Given the description of an element on the screen output the (x, y) to click on. 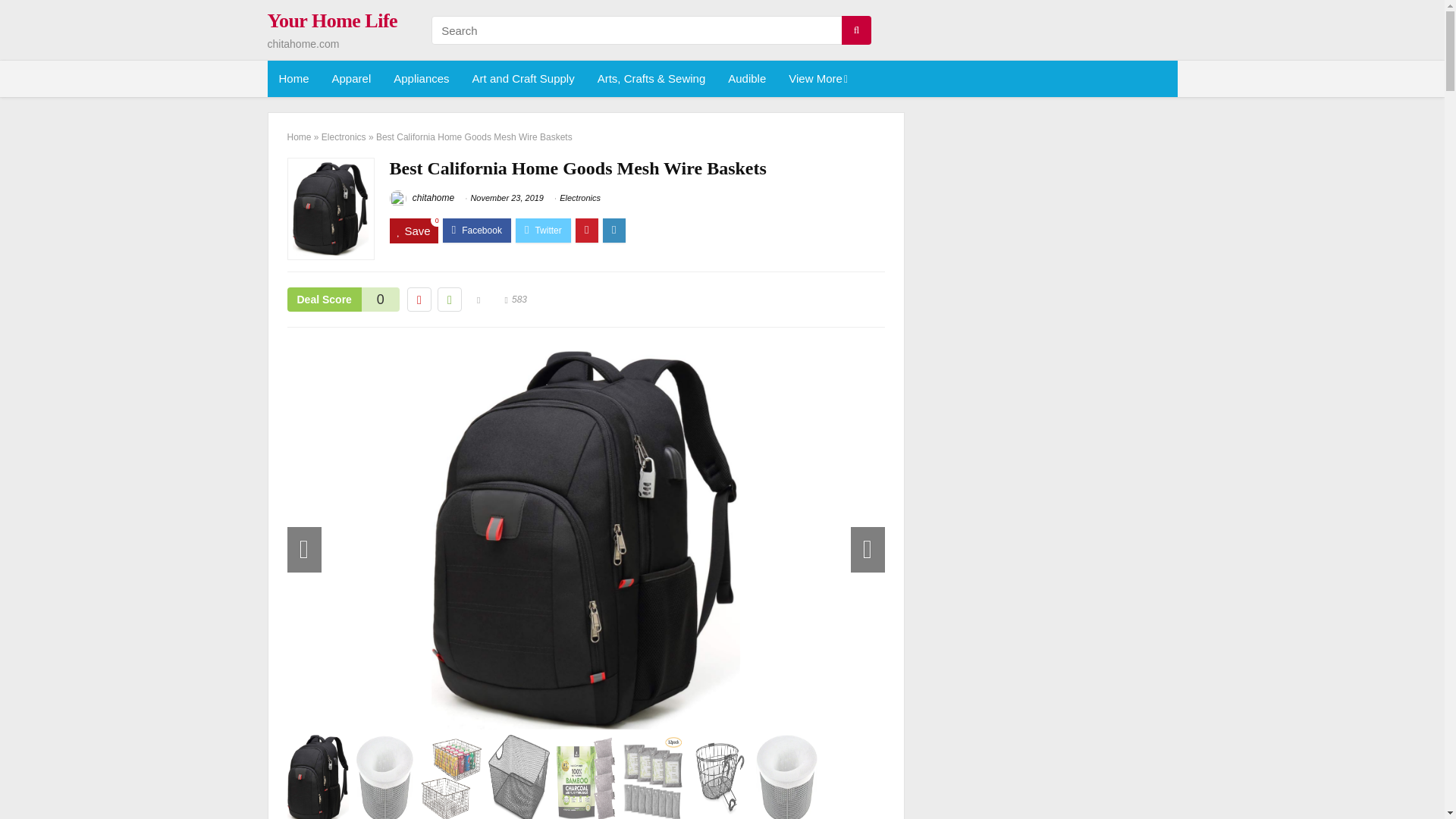
Audible (746, 78)
View all posts in Electronics (579, 197)
Vote down (418, 299)
Appliances (420, 78)
View More (816, 78)
Apparel (351, 78)
Home (293, 78)
Art and Craft Supply (523, 78)
